Given the description of an element on the screen output the (x, y) to click on. 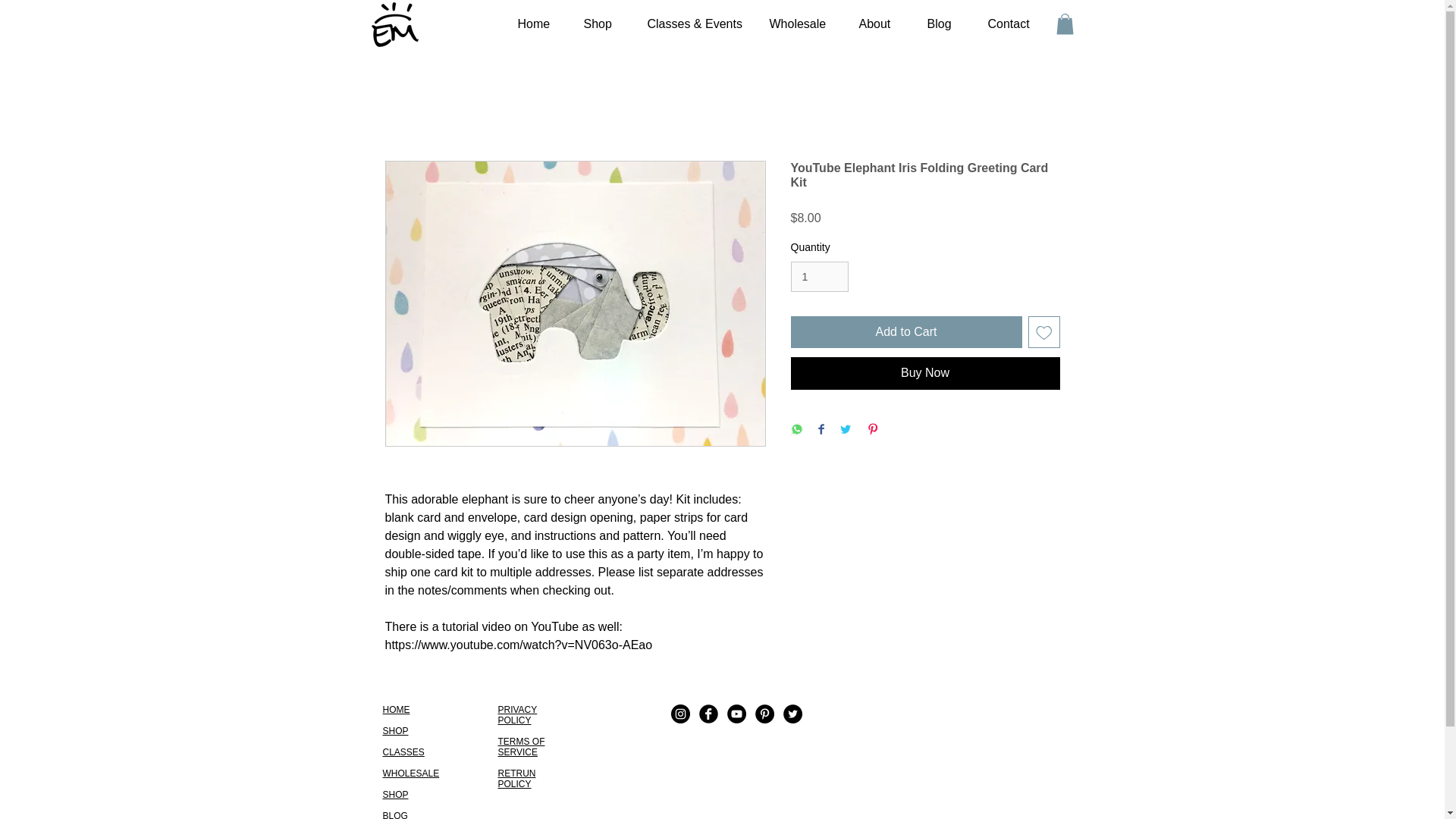
SHOP (394, 730)
Shop (595, 24)
TERMS OF SERVICE (520, 746)
Buy Now (924, 373)
BLOG (394, 814)
Blog (938, 24)
HOME (395, 709)
Add to Cart (906, 332)
SHOP (394, 794)
CLASSES (402, 751)
